Given the description of an element on the screen output the (x, y) to click on. 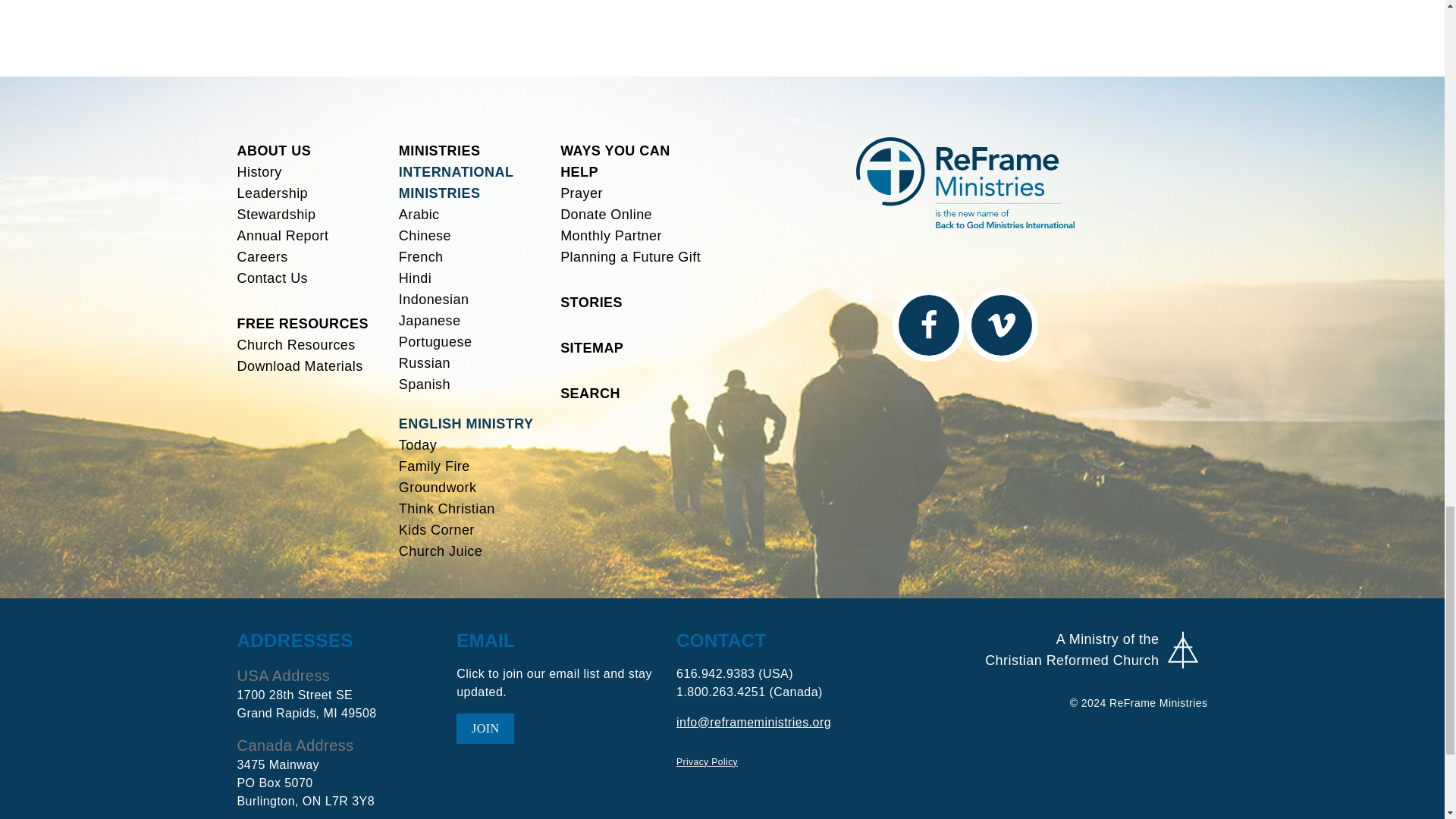
Facebook (927, 325)
Return Home (964, 181)
Vimeo (999, 325)
